Given the description of an element on the screen output the (x, y) to click on. 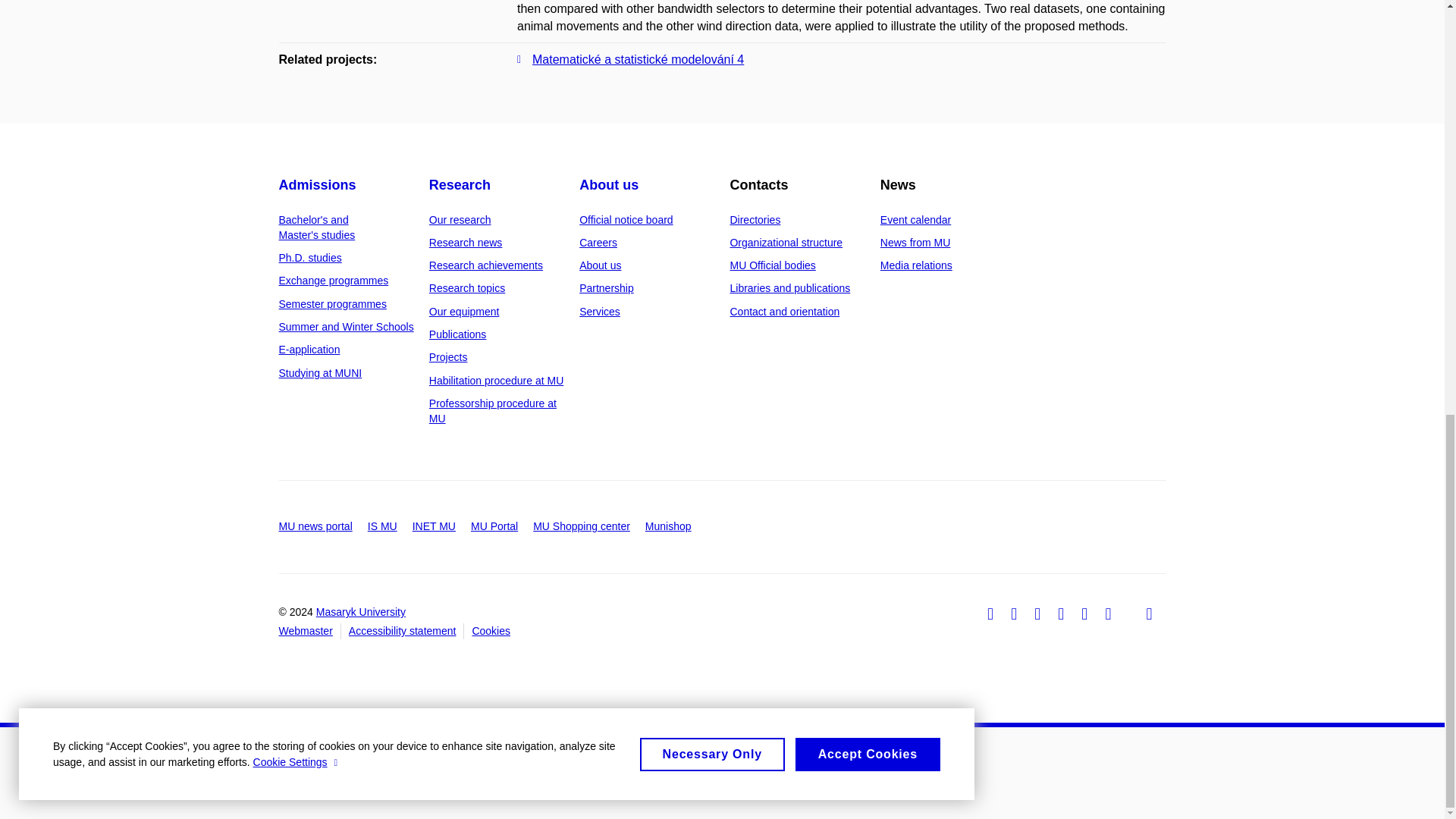
Exchange programmes (333, 280)
Research (459, 184)
Summer and Winter Schools (346, 326)
Publications (457, 334)
Research topics (467, 287)
Admissions (317, 184)
Projects (448, 357)
Semester programmes (333, 304)
Our equipment (464, 311)
